Given the description of an element on the screen output the (x, y) to click on. 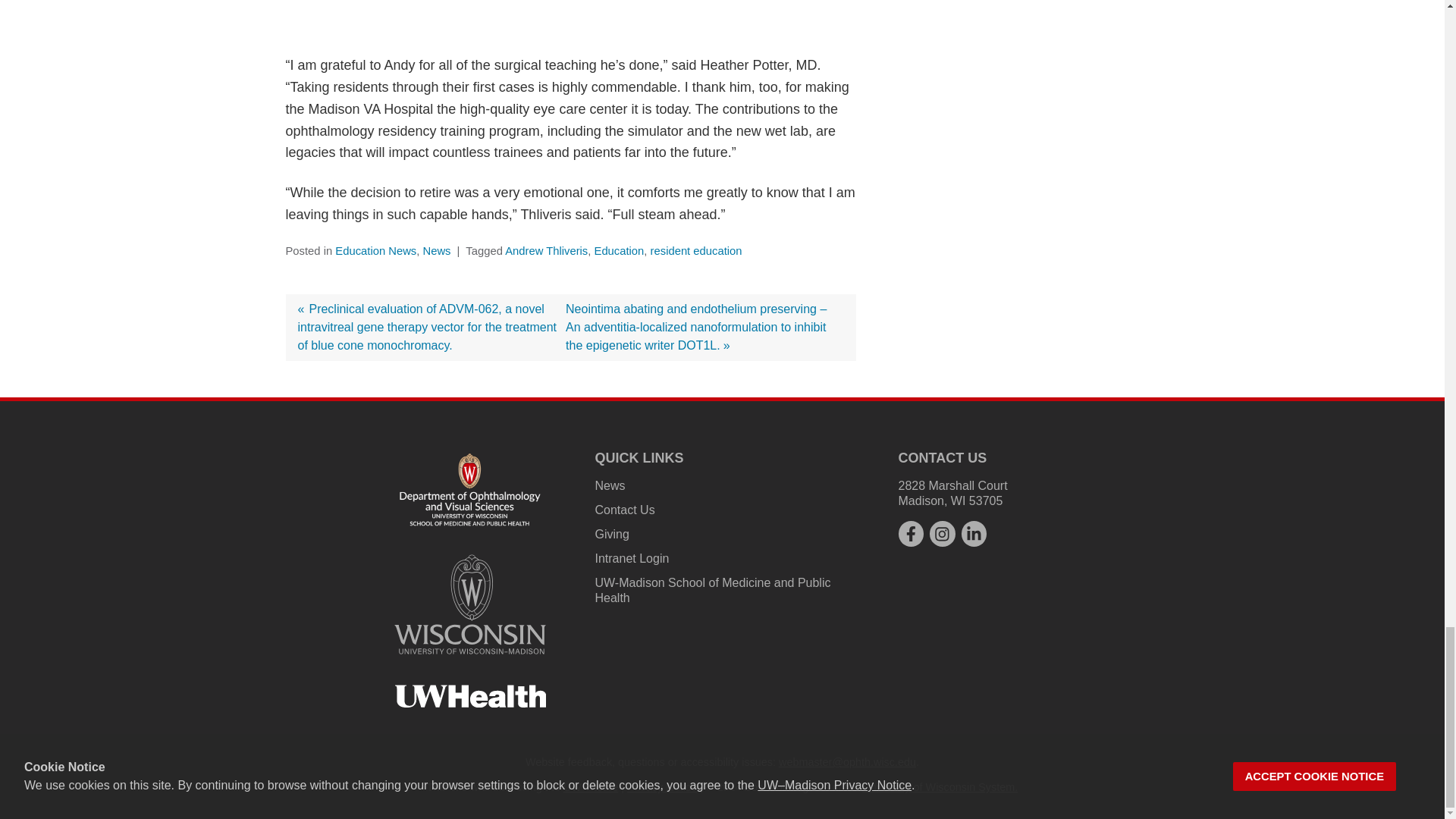
linkedin (973, 534)
facebook (910, 534)
instagram (941, 534)
University logo that links to main university website (470, 603)
